Given the description of an element on the screen output the (x, y) to click on. 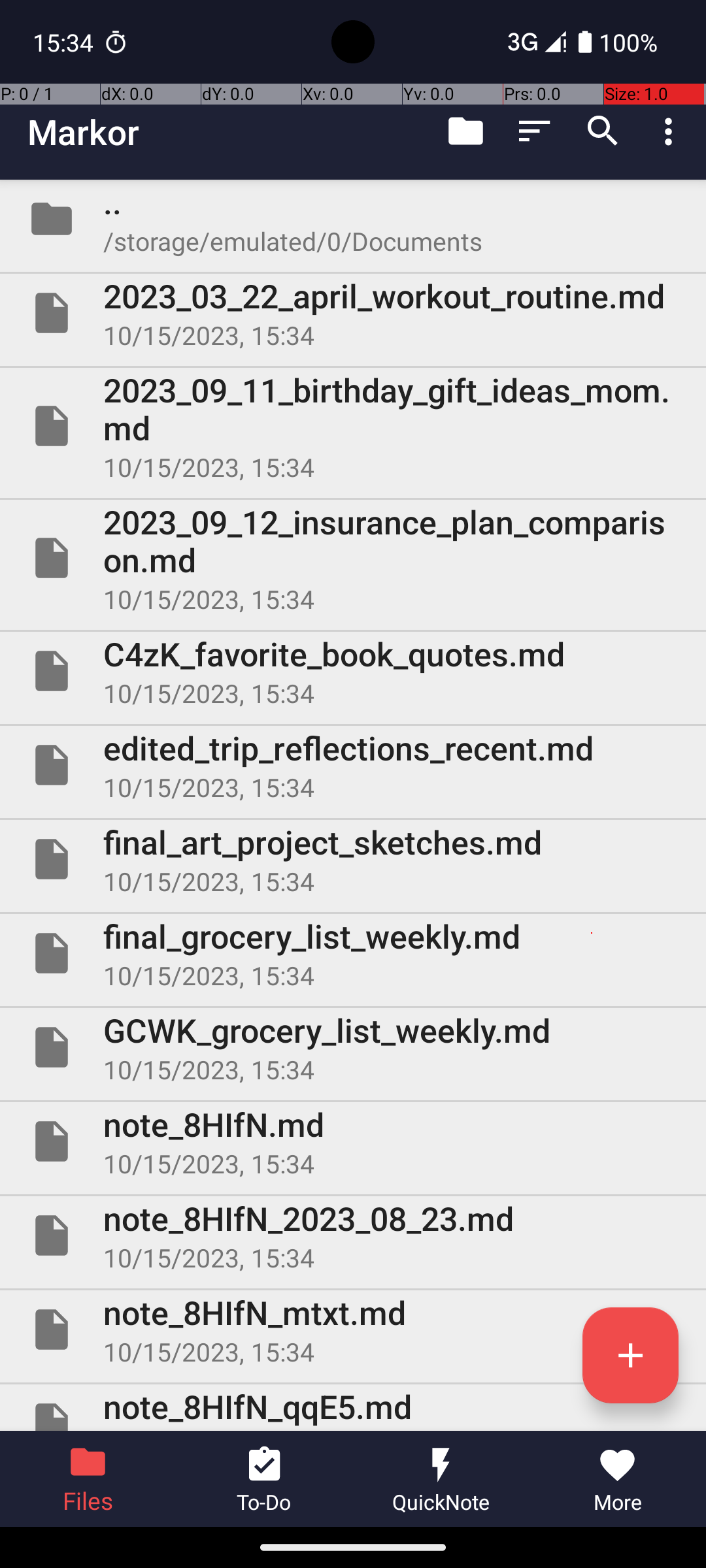
File 2023_03_22_april_workout_routine.md  Element type: android.widget.LinearLayout (353, 312)
File 2023_09_11_birthday_gift_ideas_mom.md  Element type: android.widget.LinearLayout (353, 425)
File 2023_09_12_insurance_plan_comparison.md  Element type: android.widget.LinearLayout (353, 557)
File C4zK_favorite_book_quotes.md  Element type: android.widget.LinearLayout (353, 670)
File edited_trip_reflections_recent.md  Element type: android.widget.LinearLayout (353, 764)
File final_art_project_sketches.md  Element type: android.widget.LinearLayout (353, 858)
File final_grocery_list_weekly.md 10/15/2023, 15:34 Element type: android.widget.LinearLayout (353, 953)
File GCWK_grocery_list_weekly.md 10/15/2023, 15:34 Element type: android.widget.LinearLayout (353, 1047)
File note_8HIfN.md 10/15/2023, 15:34 Element type: android.widget.LinearLayout (353, 1141)
File note_8HIfN_2023_08_23.md 10/15/2023, 15:34 Element type: android.widget.LinearLayout (353, 1235)
File note_8HIfN_mtxt.md  Element type: android.widget.LinearLayout (353, 1329)
File note_8HIfN_qqE5.md  Element type: android.widget.LinearLayout (353, 1407)
